Given the description of an element on the screen output the (x, y) to click on. 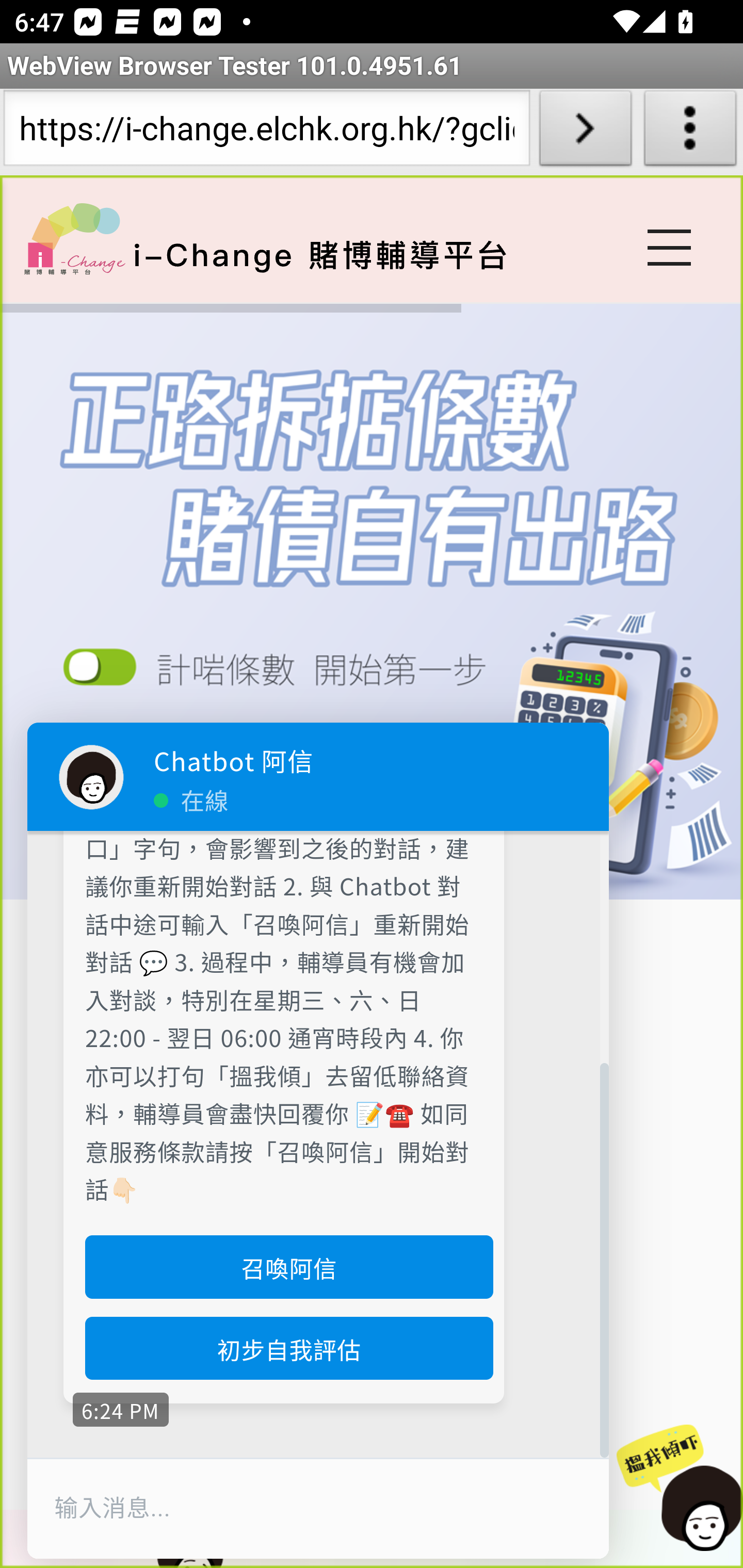
Load URL (585, 132)
About WebView (690, 132)
Home (74, 238)
查閱私隱政策 (283, 674)
Chat Now (674, 1488)
